Given the description of an element on the screen output the (x, y) to click on. 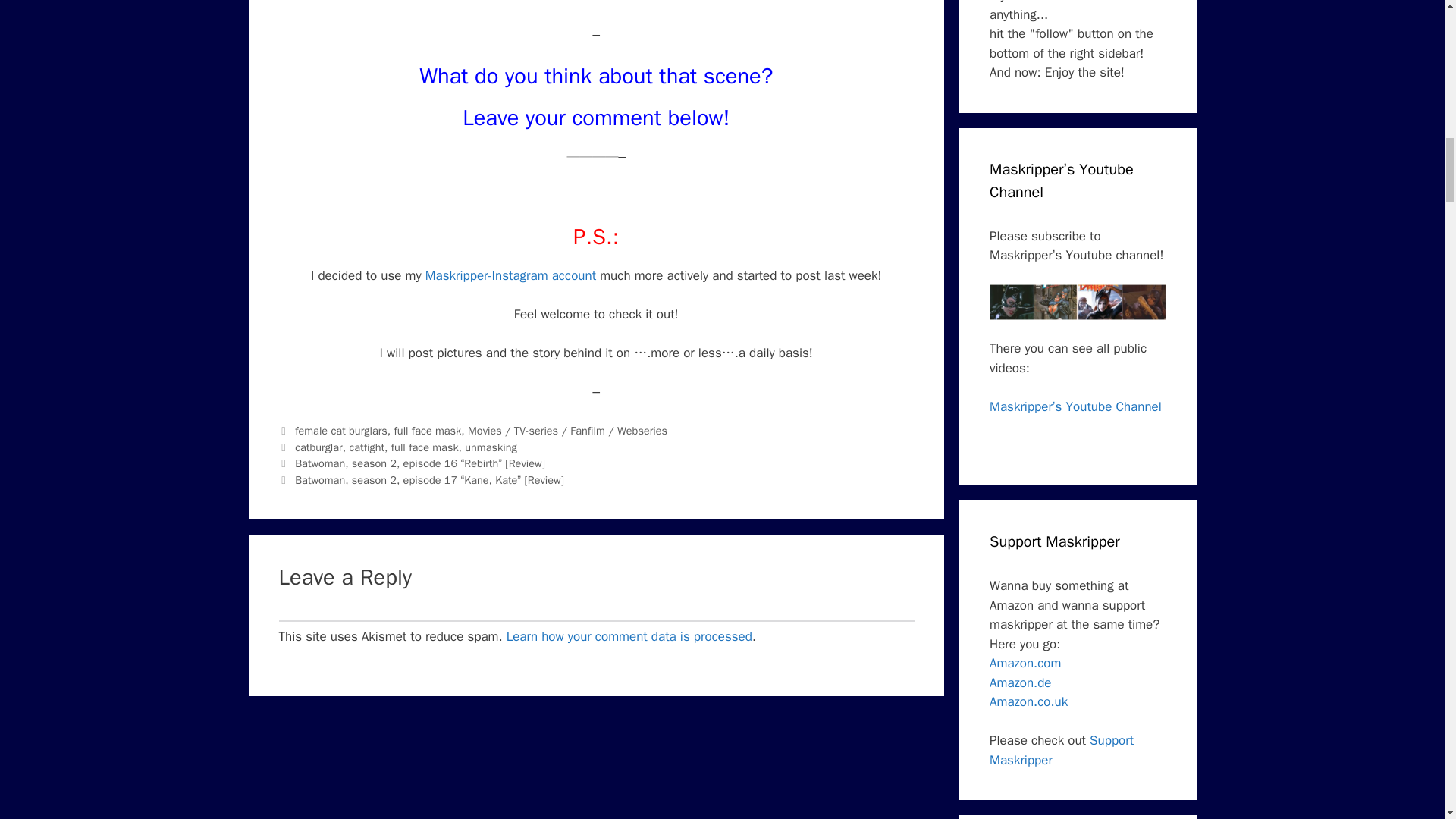
Maskripper-Instagram account (510, 275)
Amazon.de (1020, 682)
female cat burglars (341, 430)
catburglar (318, 447)
full face mask (427, 430)
catfight (366, 447)
Amazon.com (1025, 662)
IMDB-link (596, 2)
full face mask (424, 447)
Learn how your comment data is processed (629, 636)
unmasking (490, 447)
